Given the description of an element on the screen output the (x, y) to click on. 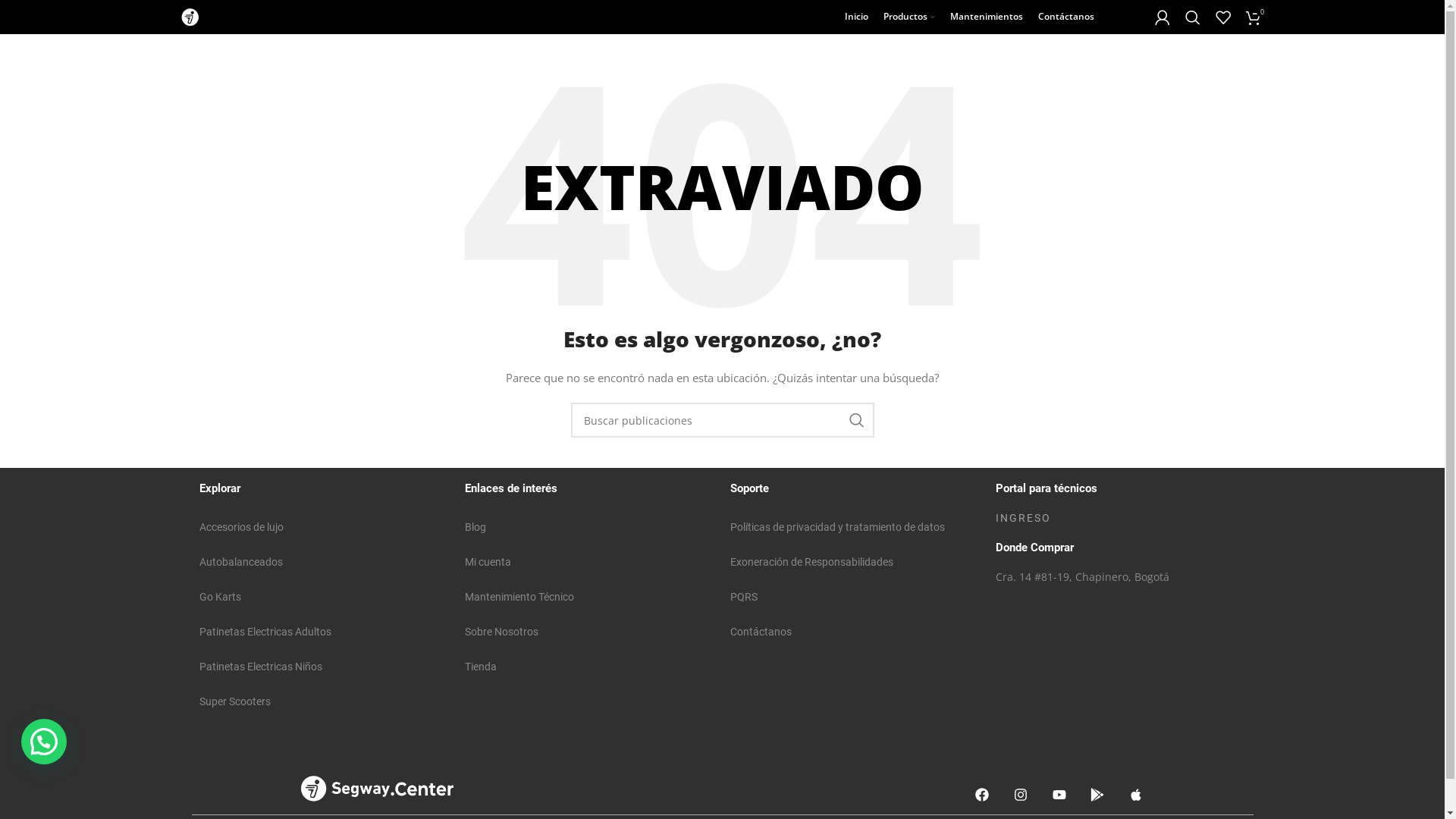
Accesorios de lujo Element type: text (323, 526)
PQRS Element type: text (854, 596)
Super Scooters Element type: text (323, 701)
Sobre Nosotros Element type: text (589, 631)
Go Karts Element type: text (323, 596)
Patinetas Electricas Adultos Element type: text (323, 631)
Blog Element type: text (589, 526)
Inicio Element type: text (856, 16)
Mi cuenta Element type: hover (1161, 16)
Mi lista de deseos Element type: hover (1222, 16)
Buscar publicaciones Element type: hover (721, 419)
Tienda Element type: text (589, 666)
Productos Element type: text (908, 16)
Mi cuenta Element type: text (589, 561)
0 Element type: text (1252, 16)
INGRESO Element type: text (1119, 517)
Mantenimientos Element type: text (985, 16)
BUSCAR Element type: text (855, 419)
Buscar Element type: hover (1191, 16)
Autobalanceados Element type: text (323, 561)
